Given the description of an element on the screen output the (x, y) to click on. 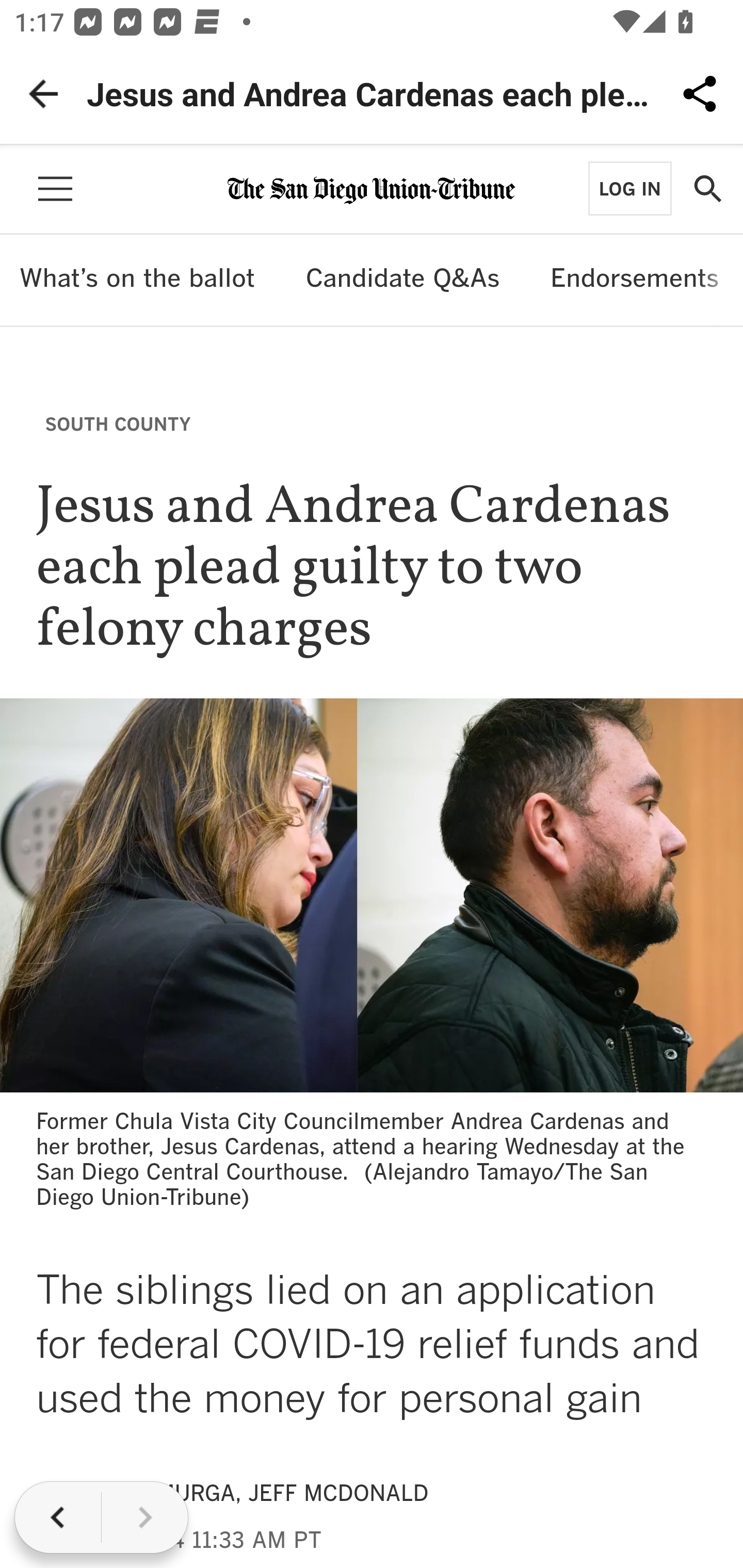
Sections (54, 188)
Show Search (707, 188)
Log In LOG IN (629, 187)
home page (371, 187)
What’s on the ballot (136, 279)
Candidate Q&As (402, 279)
Endorsements (634, 279)
SOUTH COUNTY (117, 423)
